Given the description of an element on the screen output the (x, y) to click on. 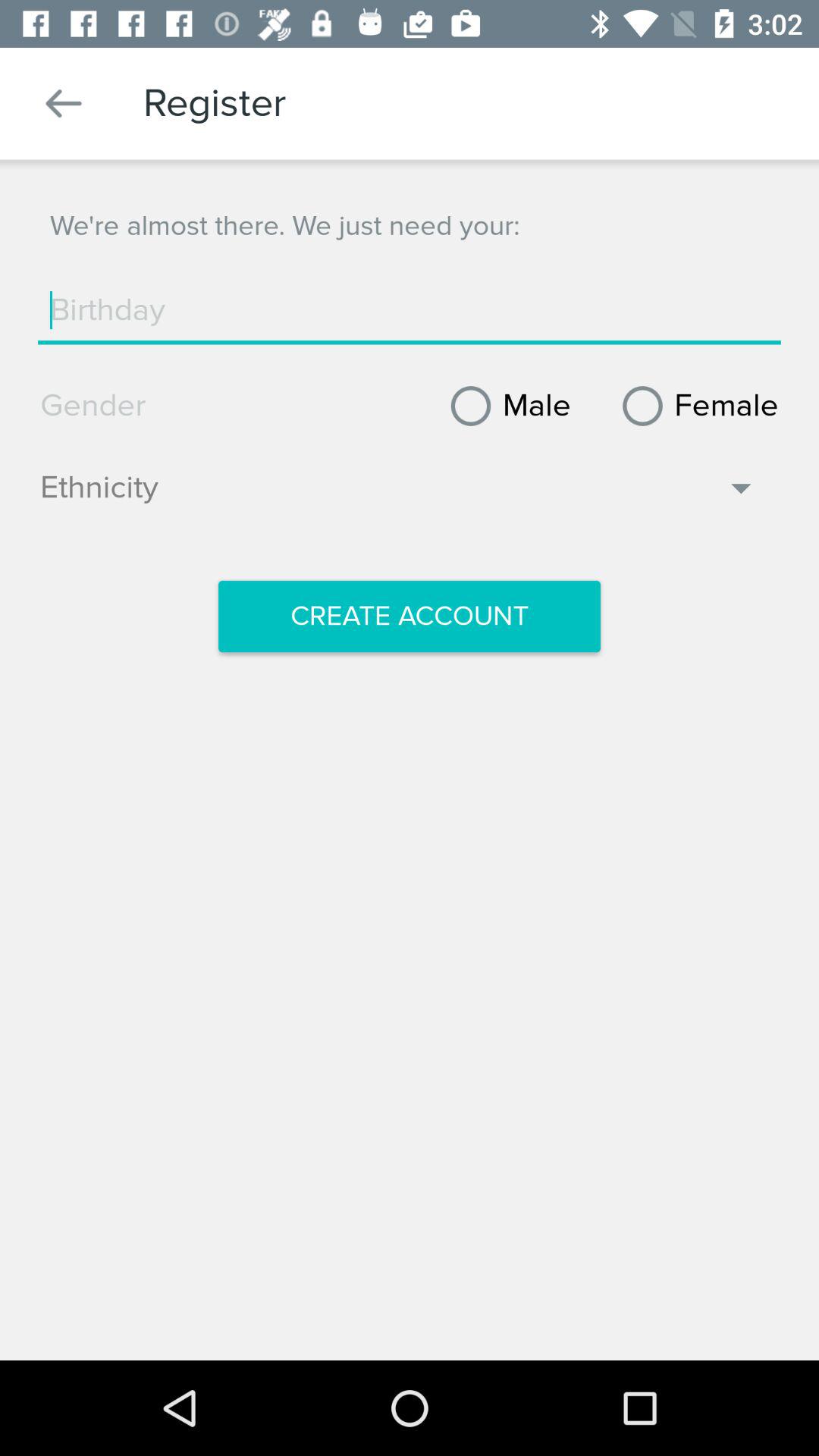
flip until the female item (694, 405)
